Given the description of an element on the screen output the (x, y) to click on. 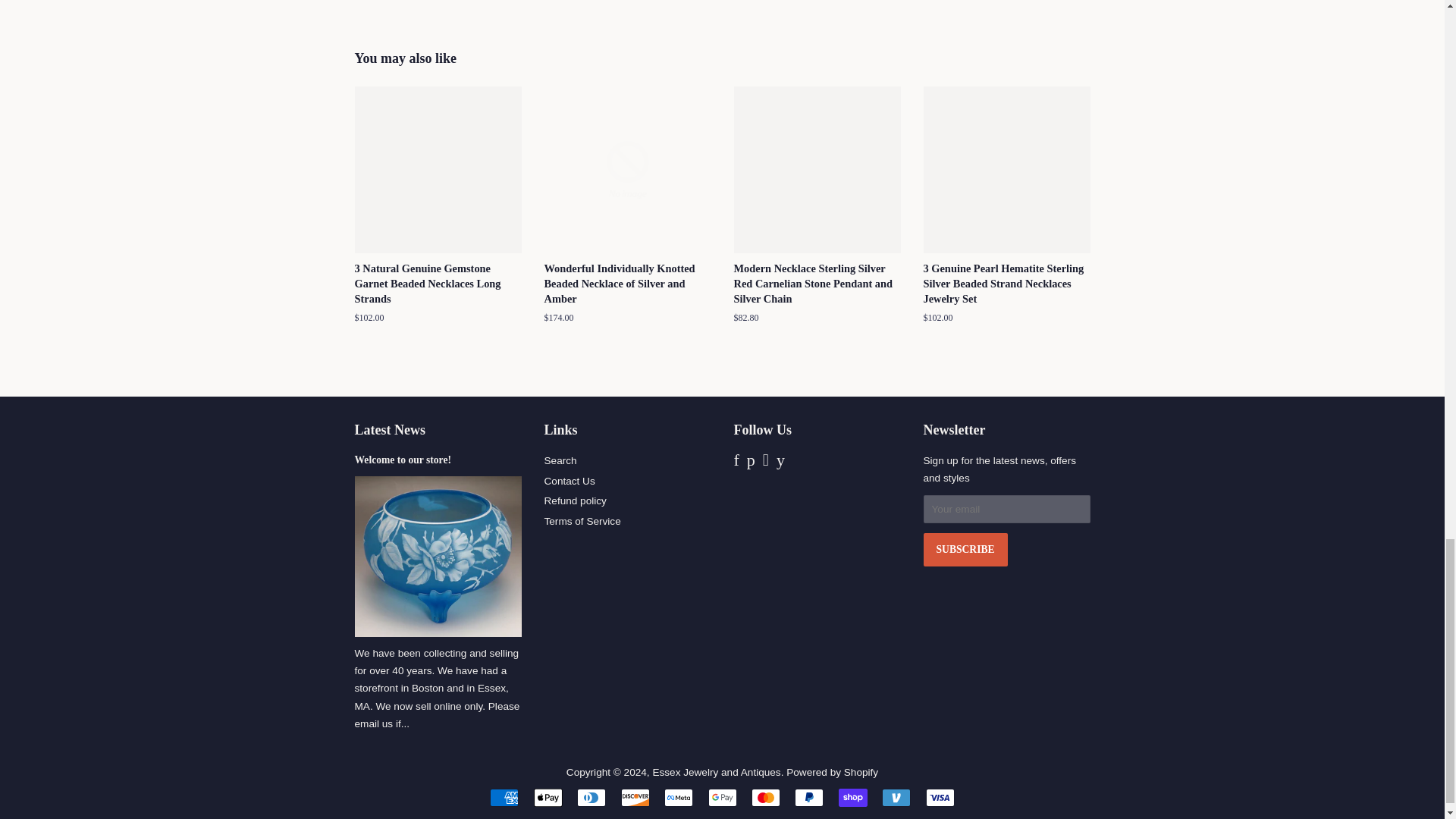
American Express (503, 797)
Meta Pay (678, 797)
Essex Jewelry and Antiques on Instagram (765, 461)
PayPal (809, 797)
Shop Pay (852, 797)
Discover (635, 797)
Mastercard (765, 797)
Google Pay (721, 797)
Essex Jewelry and Antiques on Pinterest (750, 461)
Subscribe (965, 549)
Essex Jewelry and Antiques on Facebook (736, 461)
Venmo (896, 797)
Visa (940, 797)
Apple Pay (548, 797)
Diners Club (590, 797)
